Given the description of an element on the screen output the (x, y) to click on. 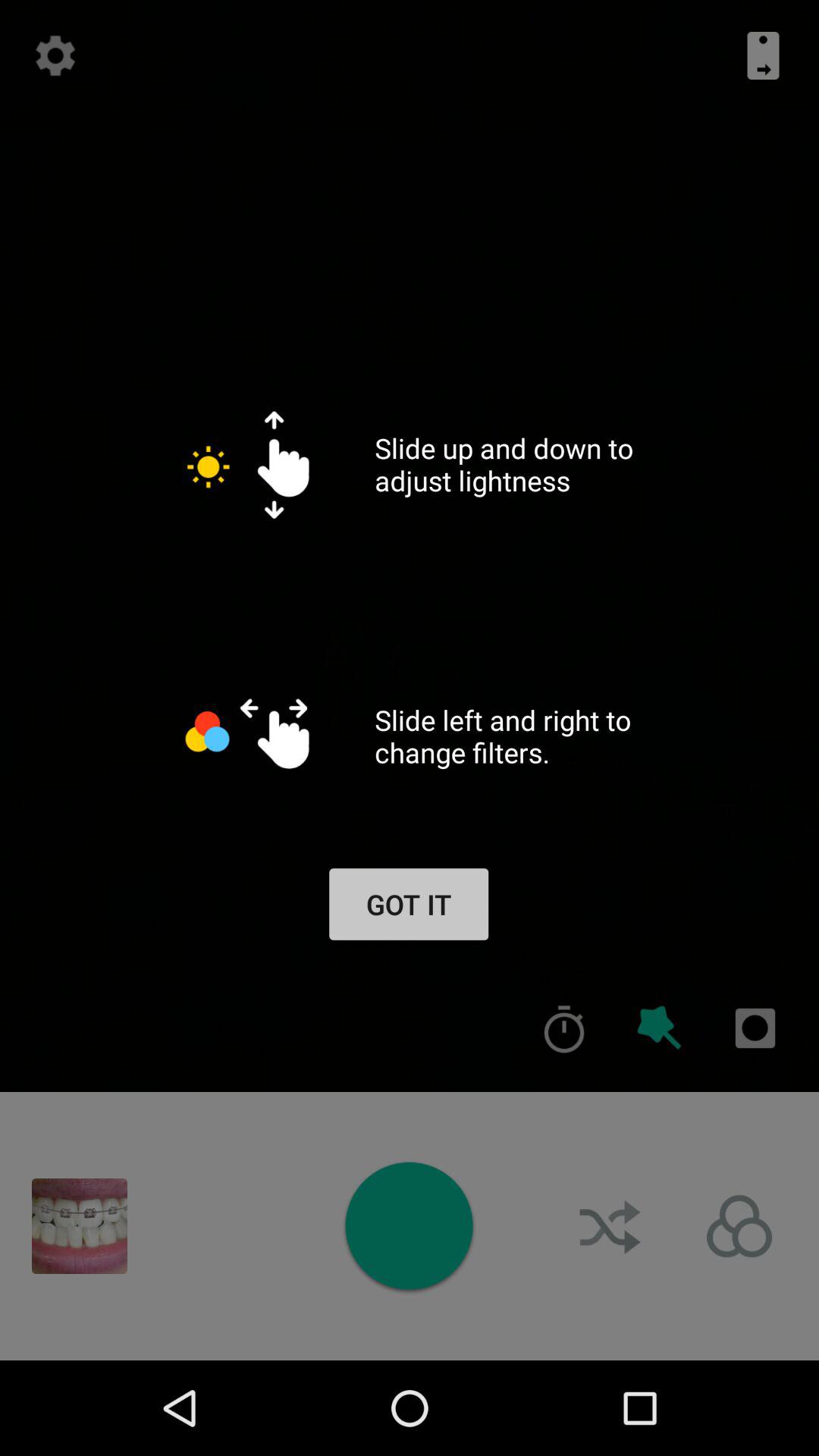
camera (408, 1225)
